Given the description of an element on the screen output the (x, y) to click on. 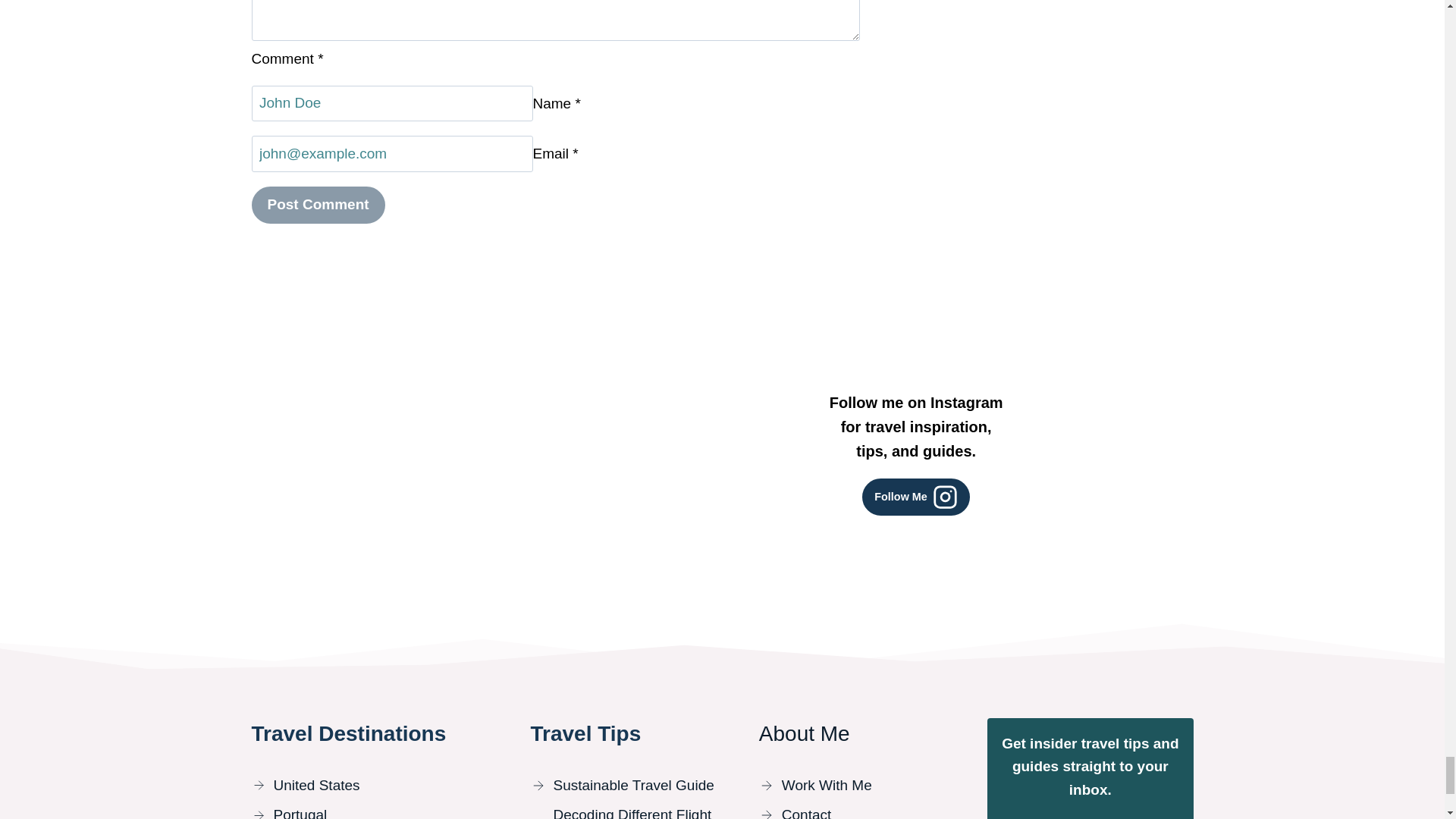
Post Comment (318, 205)
